Given the description of an element on the screen output the (x, y) to click on. 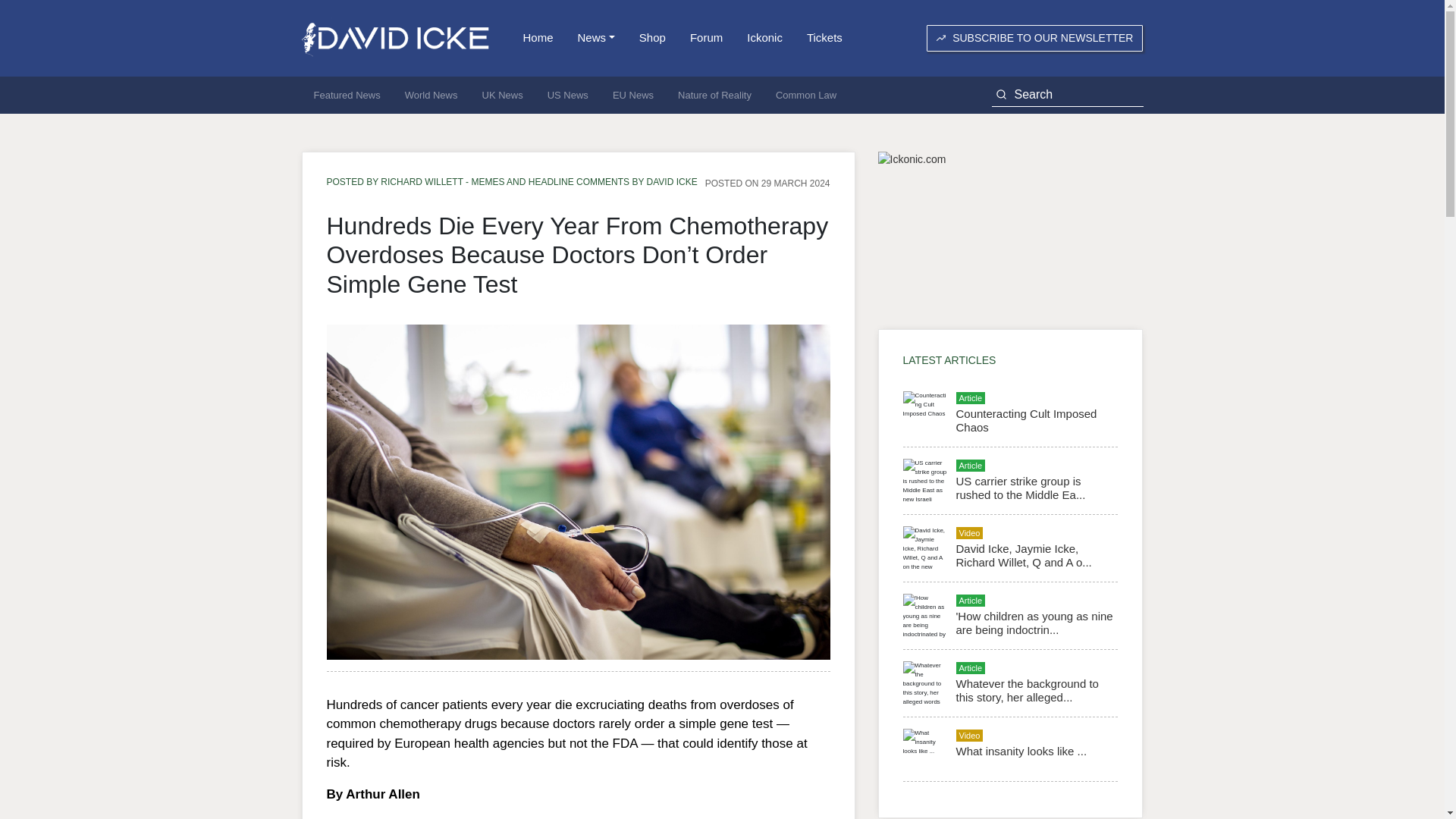
Home (538, 37)
Nature of Reality (713, 94)
Shop (652, 37)
Tickets (824, 37)
News (596, 37)
Ickonic (764, 37)
What insanity looks like ... (1020, 750)
Forum (706, 37)
Common Law (805, 94)
